Given the description of an element on the screen output the (x, y) to click on. 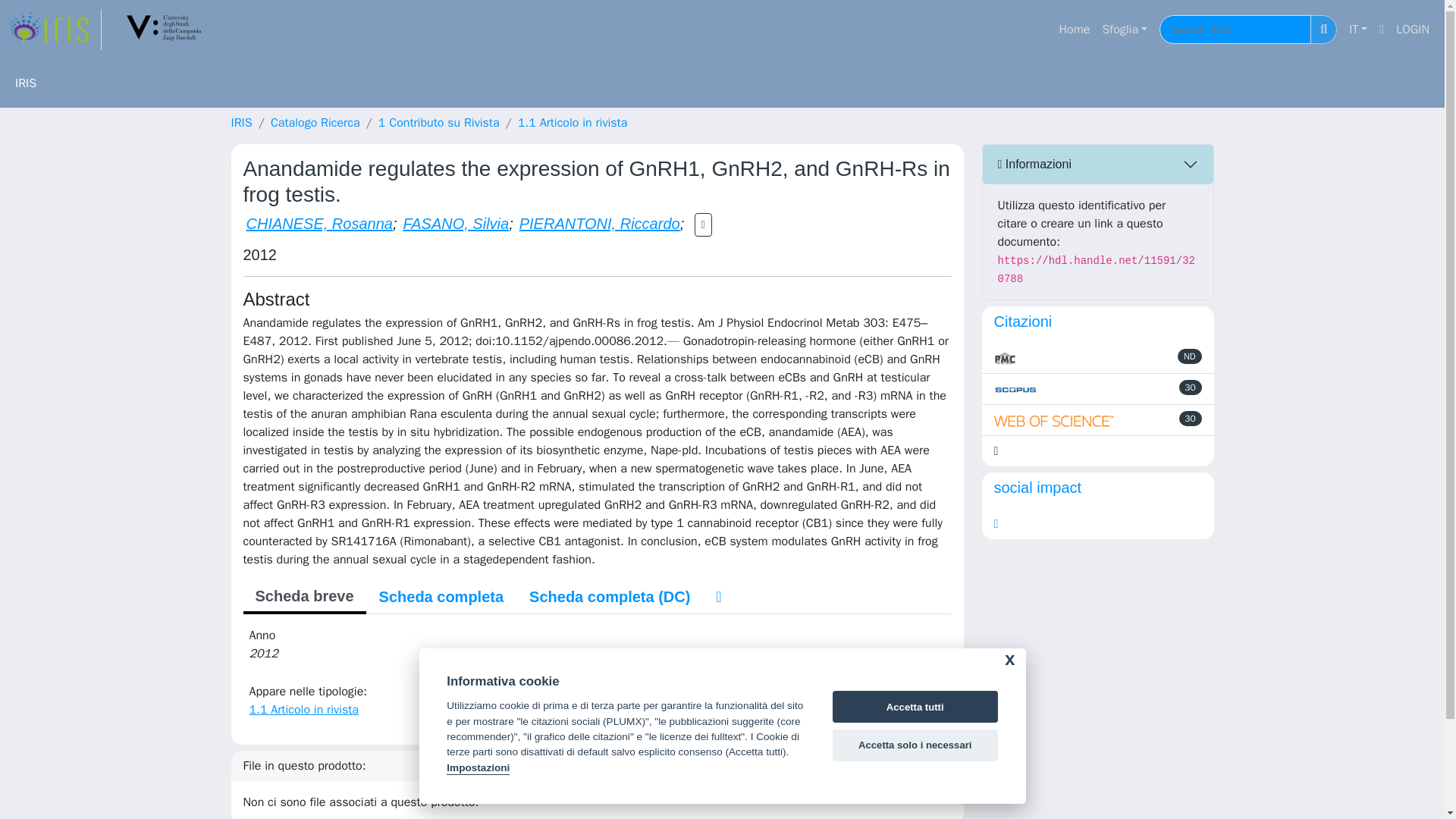
PIERANTONI, Riccardo (599, 223)
1.1 Articolo in rivista (303, 709)
Scheda completa (441, 596)
Catalogo Ricerca (314, 122)
Home (1074, 29)
1.1 Articolo in rivista (572, 122)
CHIANESE, Rosanna (318, 223)
IRIS (240, 122)
Sfoglia (1124, 29)
IT (1357, 29)
LOGIN (1412, 29)
1 Contributo su Rivista (438, 122)
aggiornato in data 08-07-2024 18:52 (1190, 387)
FASANO, Silvia (455, 223)
Scheda breve (304, 597)
